Given the description of an element on the screen output the (x, y) to click on. 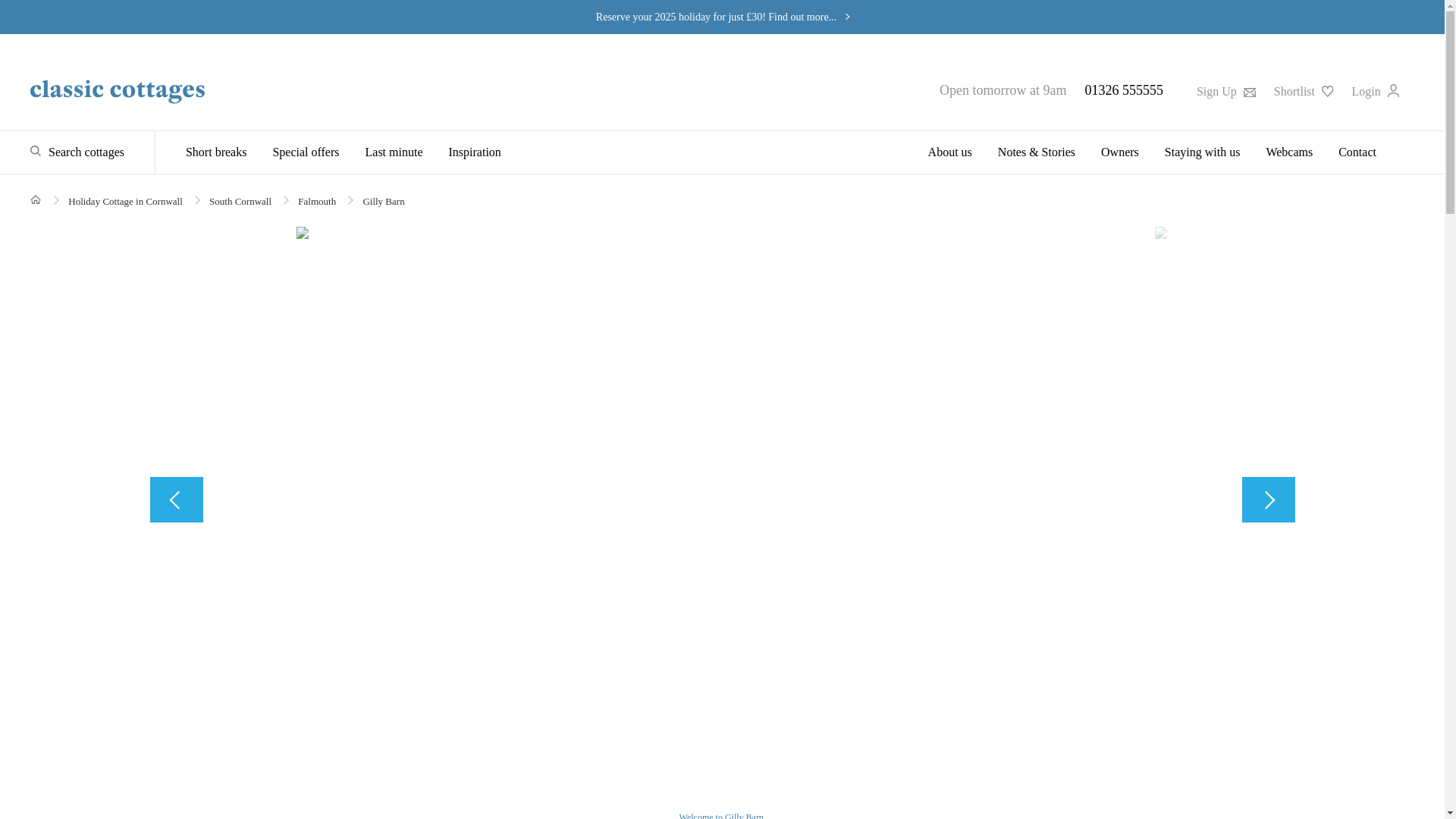
Webcams (1288, 152)
Login (1375, 91)
Inspiration (474, 152)
Special offers (305, 152)
Owners (1119, 152)
Staying with us (1202, 152)
Holiday Cottage in Cornwall (125, 201)
Last minute (393, 152)
Sign up (1225, 91)
01326 555555 (1123, 89)
